Given the description of an element on the screen output the (x, y) to click on. 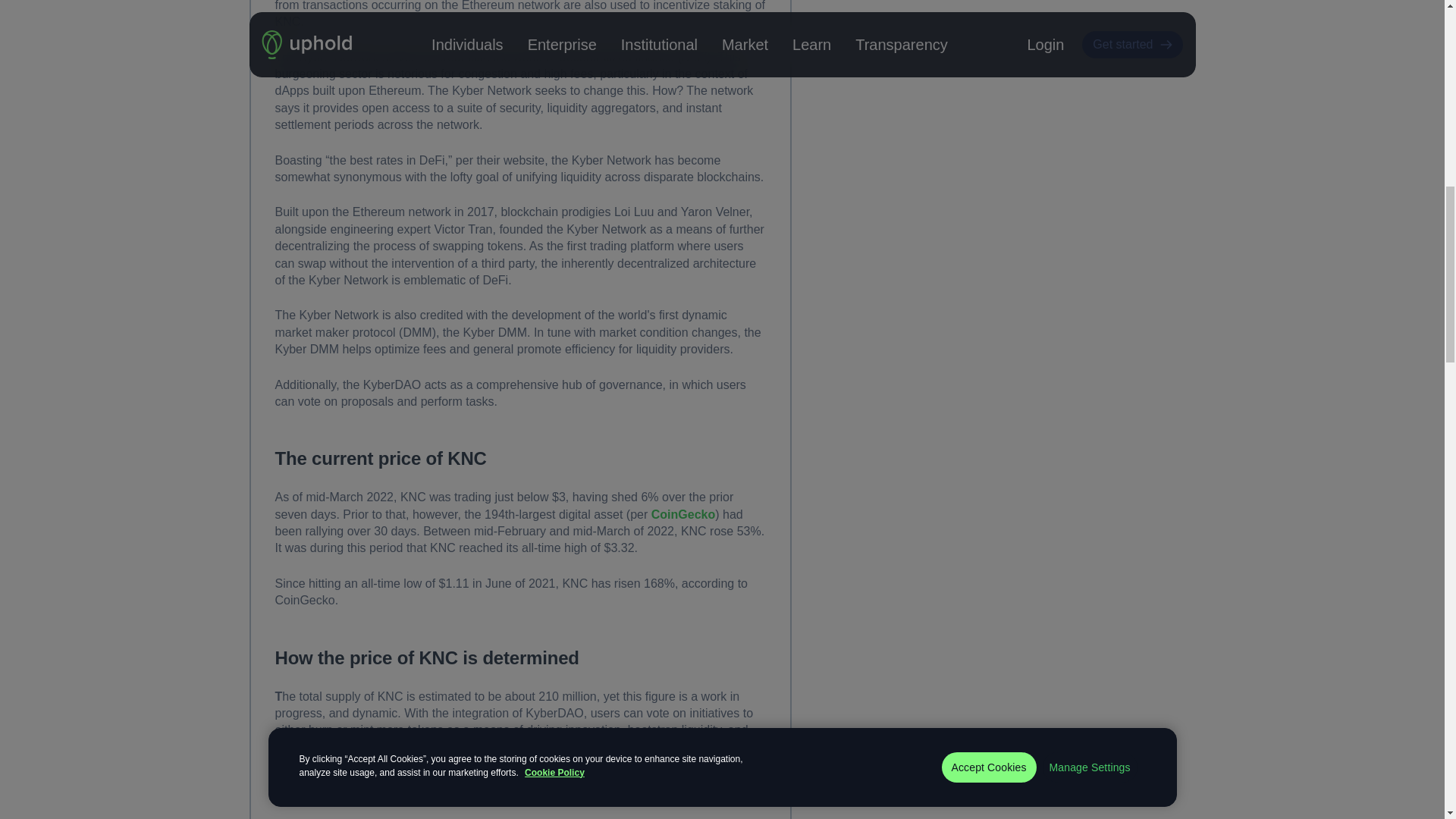
CoinGecko (682, 514)
